Given the description of an element on the screen output the (x, y) to click on. 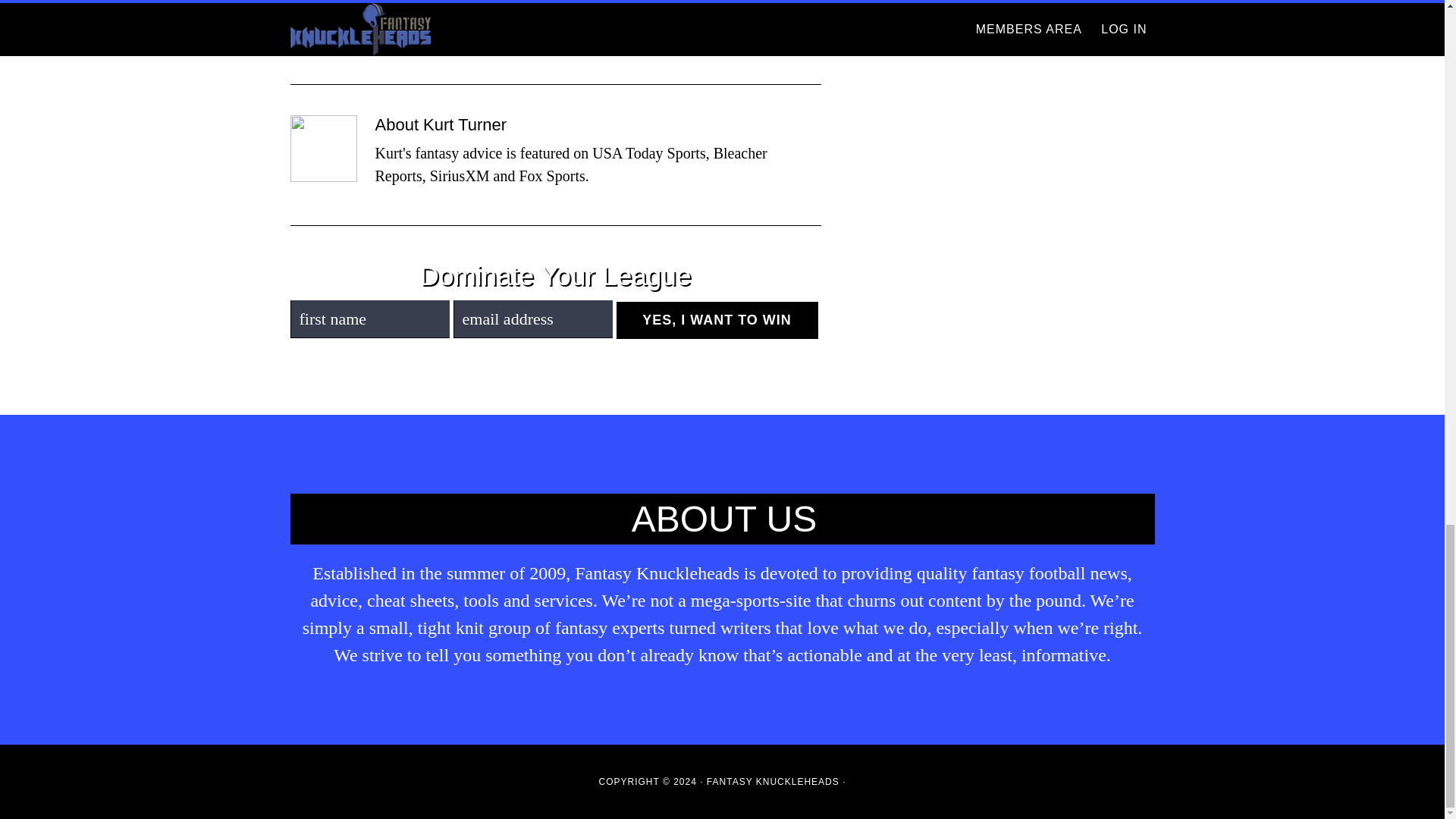
Fantasy Football News and Analysis (468, 10)
Yes, I Want To Win (715, 320)
Yes, I Want To Win (715, 320)
